Given the description of an element on the screen output the (x, y) to click on. 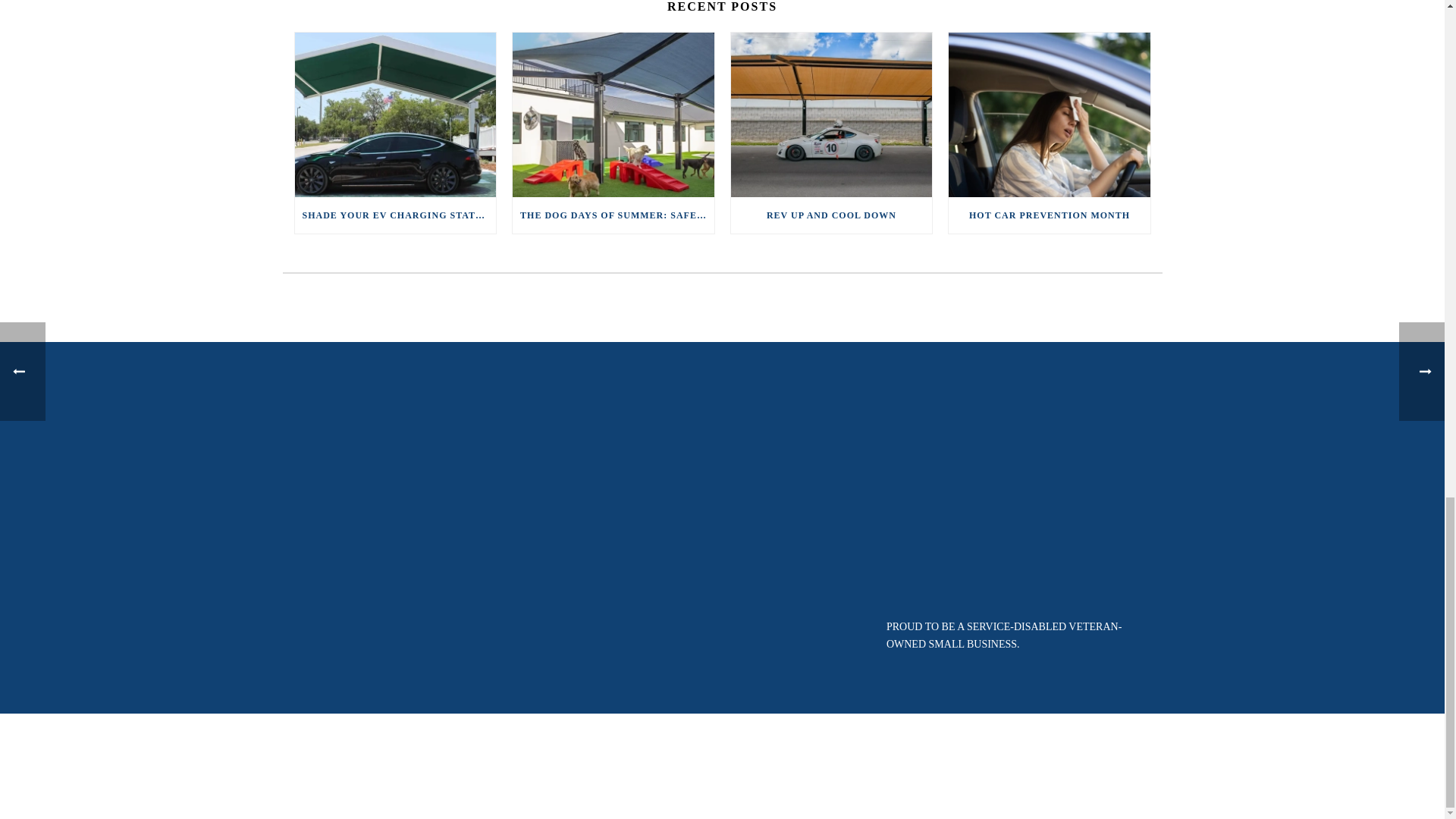
Rev Up and Cool Down (831, 114)
Shade Your EV Charging Stations with Apollo Sunguard (395, 114)
Hot Car Prevention Month (1049, 114)
